Given the description of an element on the screen output the (x, y) to click on. 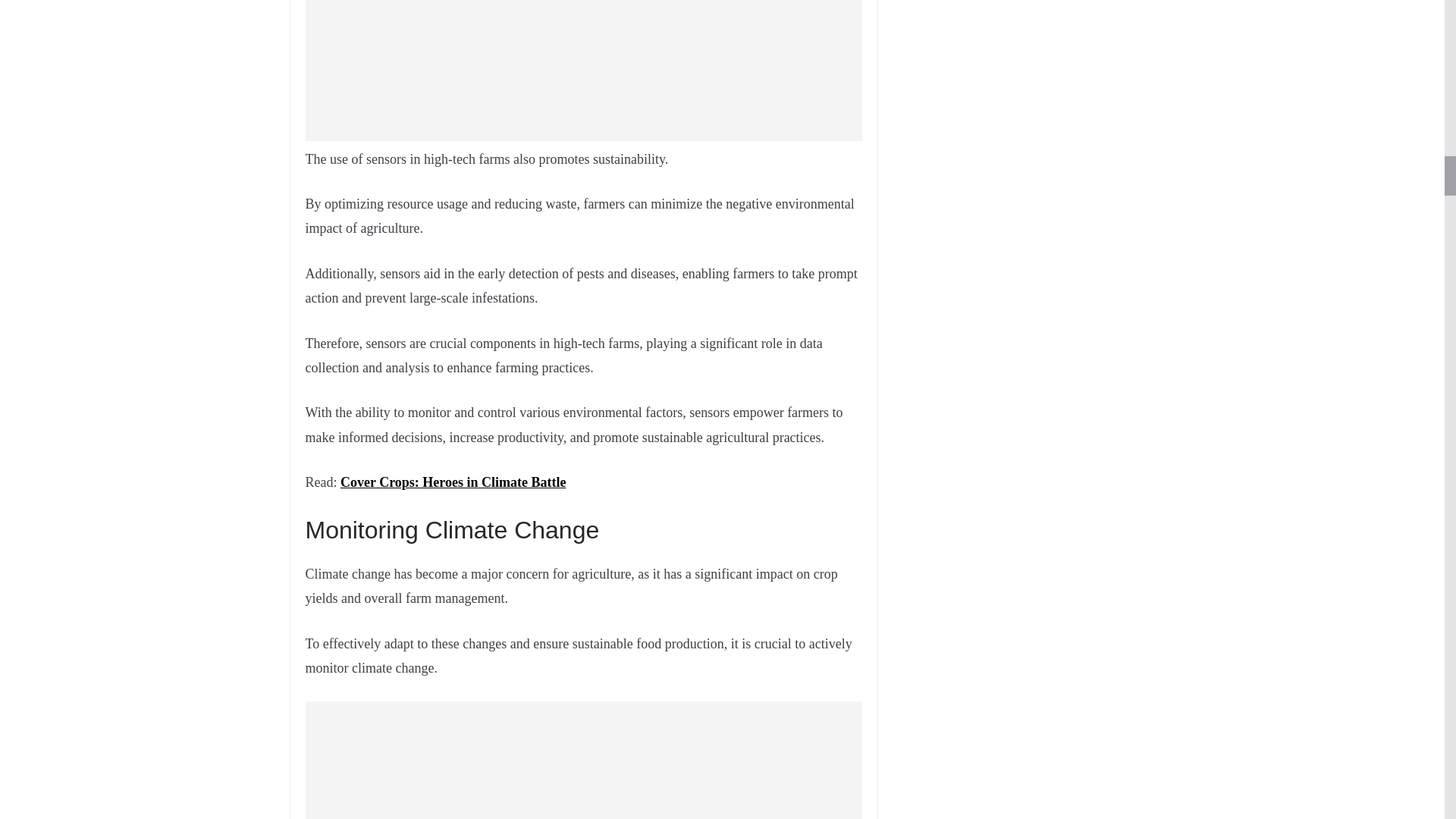
Cover Crops: Heroes in Climate Battle (453, 482)
